Given the description of an element on the screen output the (x, y) to click on. 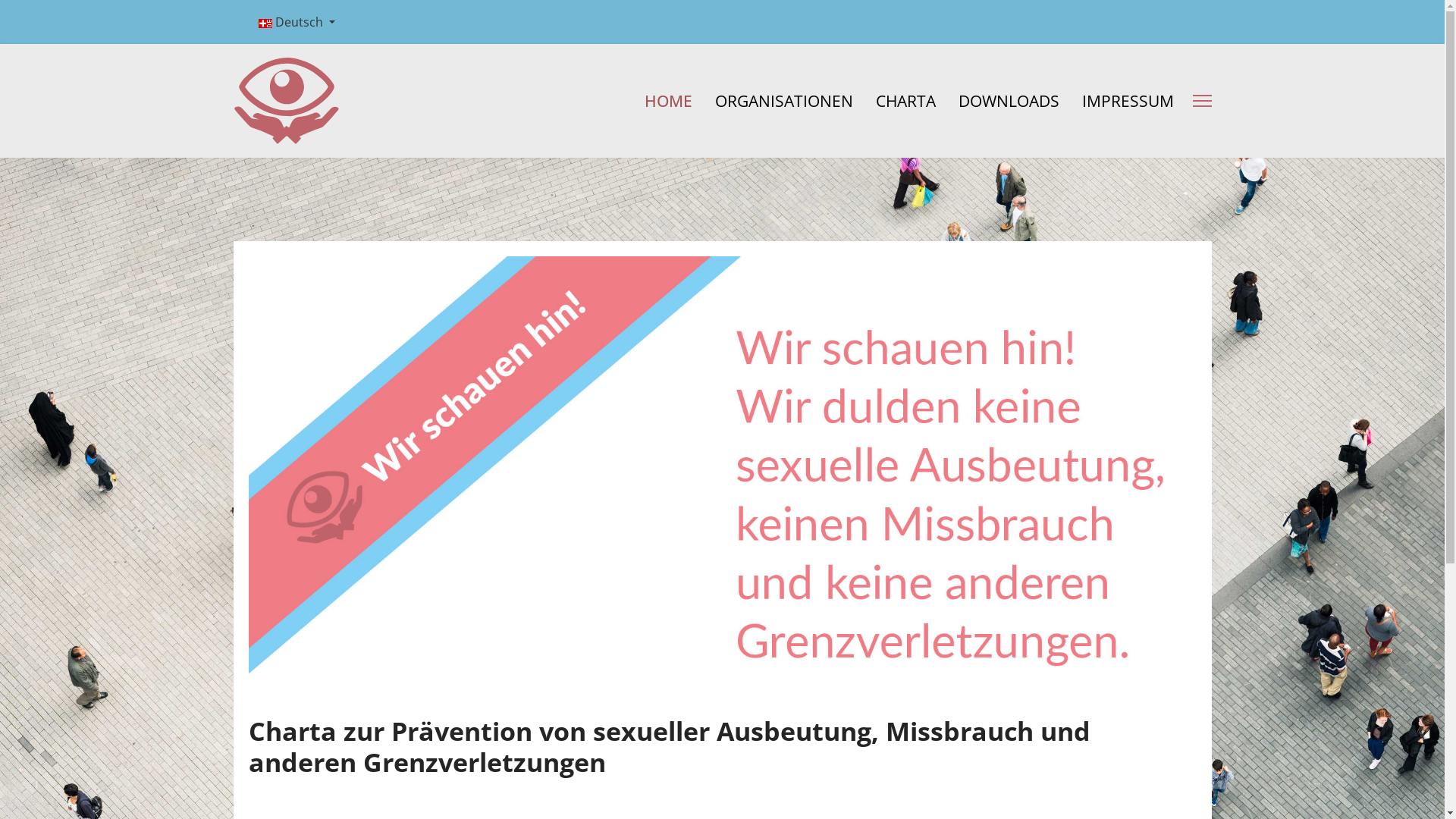
  Deutsch Element type: text (295, 21)
HOME Element type: text (667, 100)
DOWNLOADS Element type: text (1008, 100)
Menu Element type: hover (1201, 100)
ORGANISATIONEN Element type: text (783, 100)
IMPRESSUM Element type: text (1121, 100)
CHARTA Element type: text (905, 100)
